Given the description of an element on the screen output the (x, y) to click on. 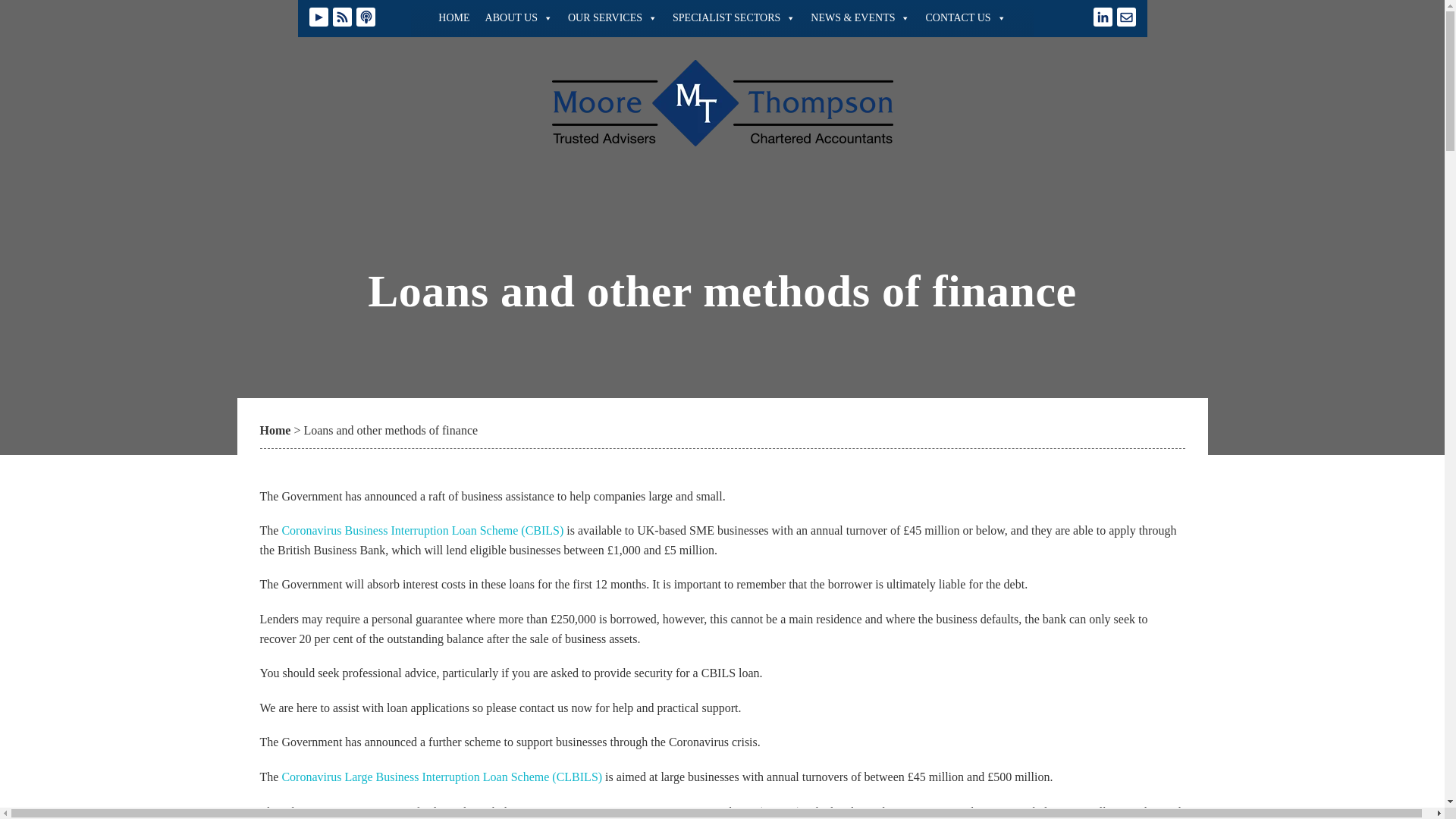
OUR SERVICES (612, 18)
HOME (453, 18)
ABOUT US (518, 18)
